Given the description of an element on the screen output the (x, y) to click on. 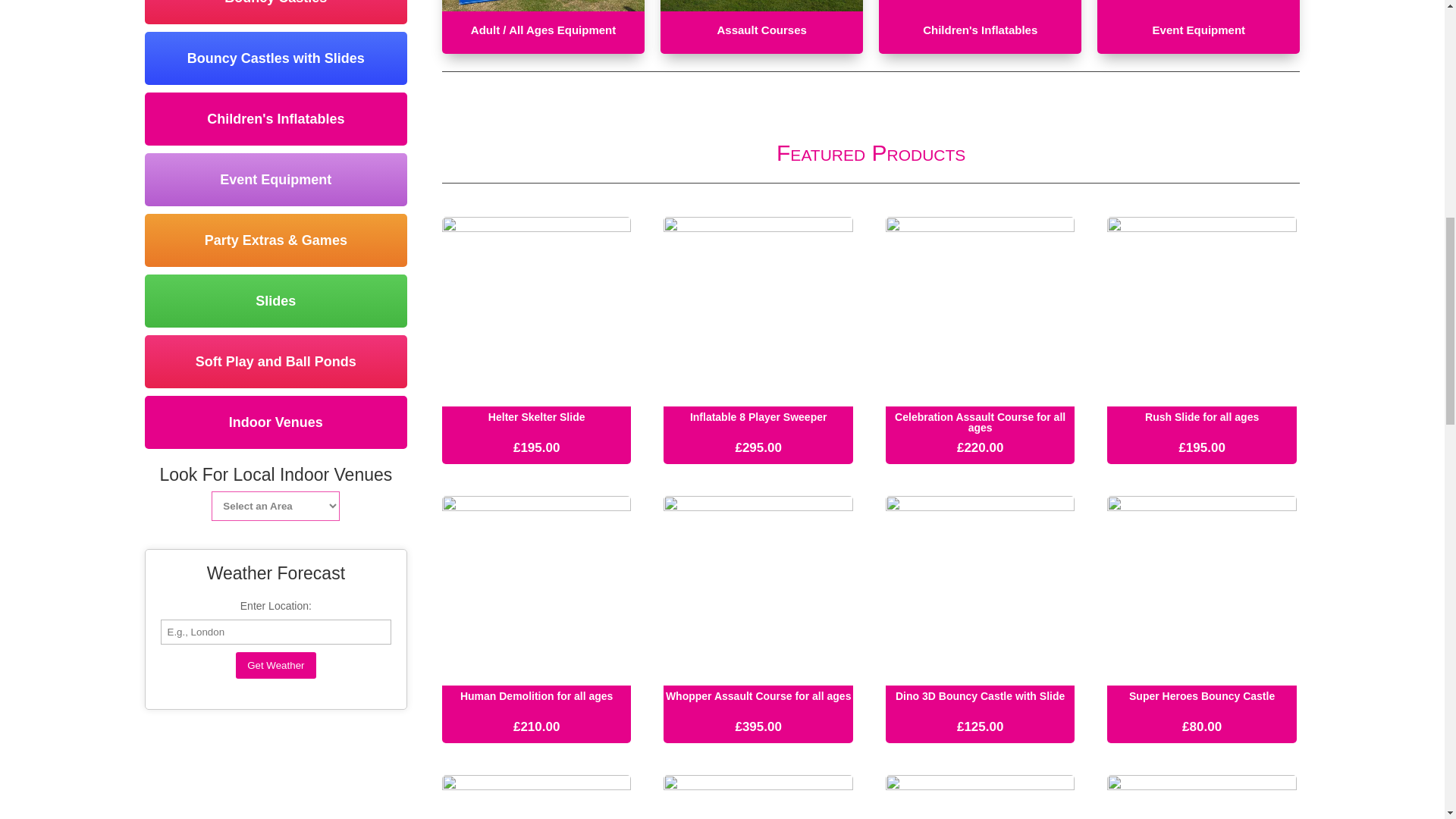
Event Equipment (275, 179)
Bouncy Castles with Slides (275, 58)
Bouncy Castles (275, 12)
Children's Inflatables (275, 118)
Slides (275, 300)
